Given the description of an element on the screen output the (x, y) to click on. 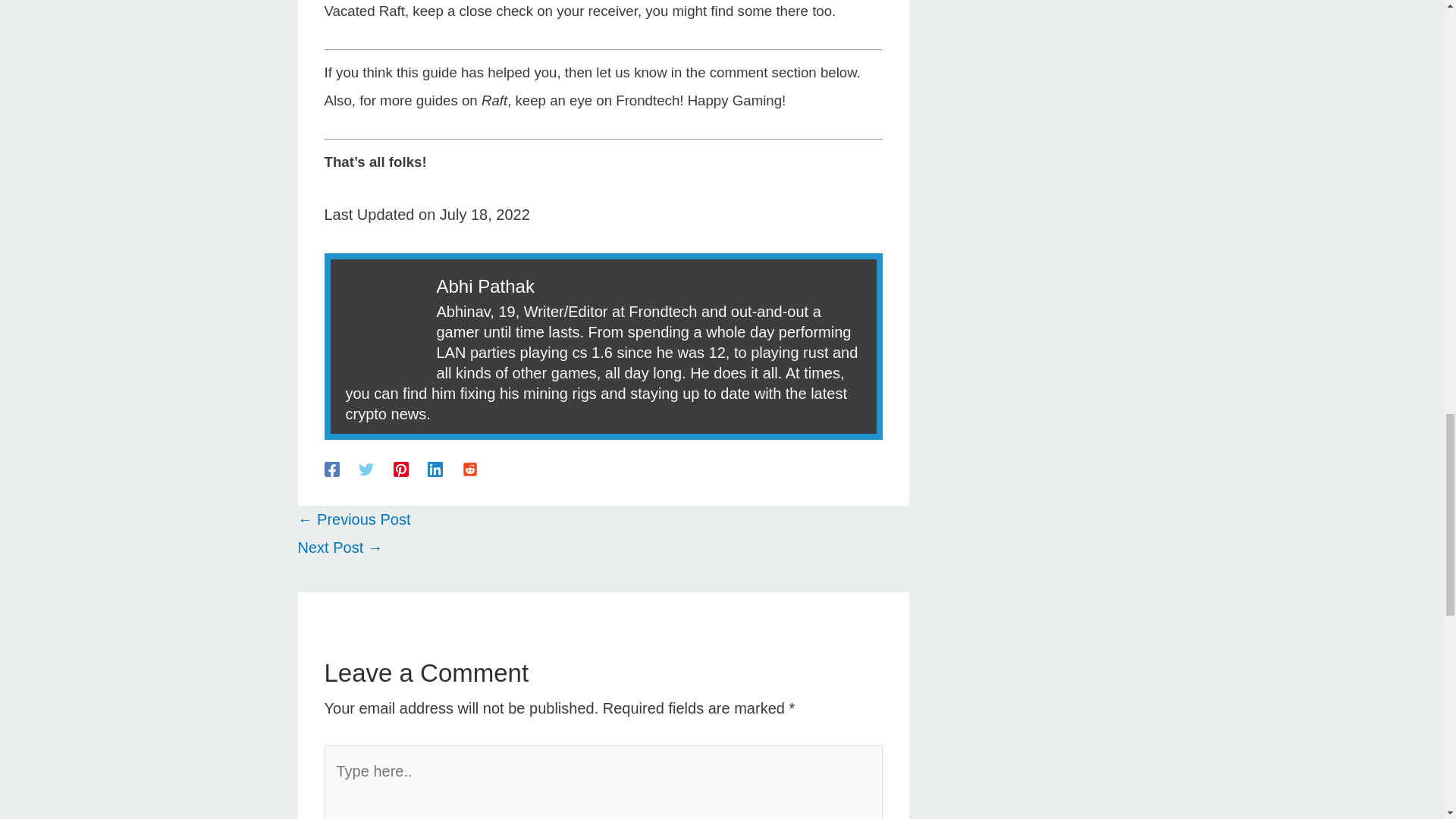
Abhi Pathak (485, 286)
